Given the description of an element on the screen output the (x, y) to click on. 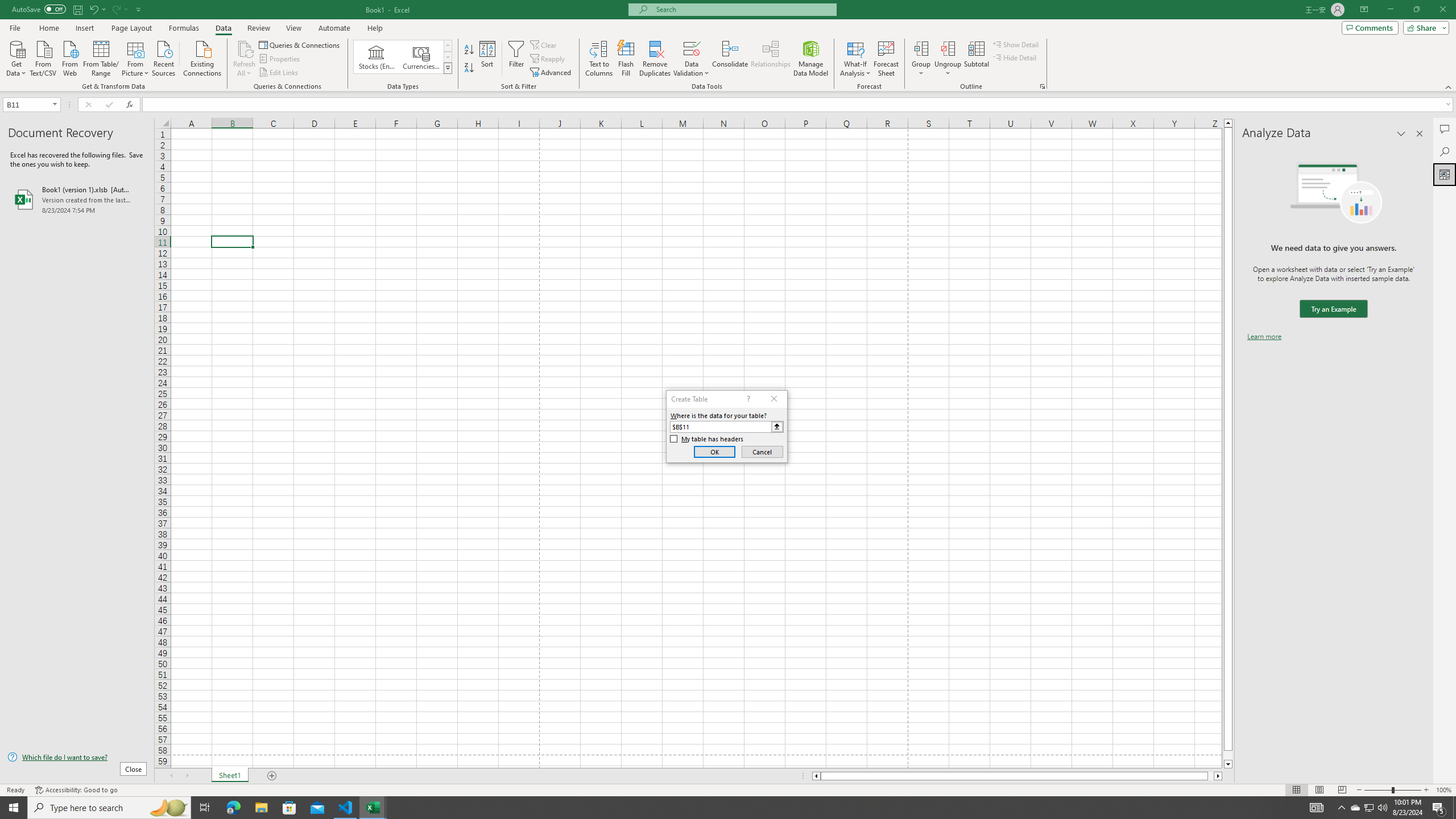
Show Detail (1016, 44)
